Given the description of an element on the screen output the (x, y) to click on. 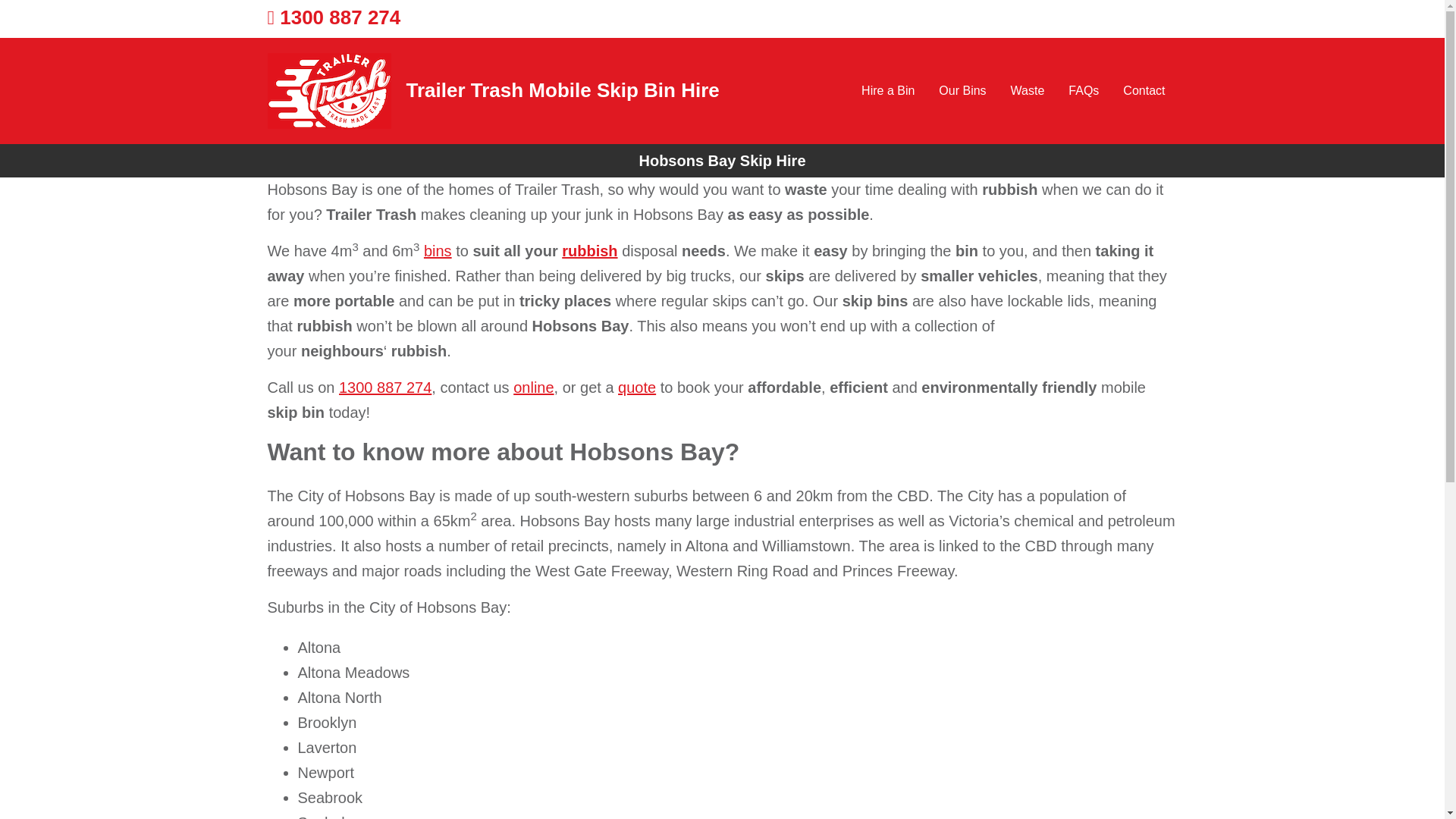
Waste (1027, 90)
rubbish (589, 250)
Our Bins (961, 90)
1300 887 274 (333, 16)
Hire a Bin (887, 90)
Trailer Trash Mobile Skip Bin Hire (562, 89)
FAQs (1083, 90)
1300 887 274 (384, 387)
quote (636, 387)
Contact (1143, 90)
